Given the description of an element on the screen output the (x, y) to click on. 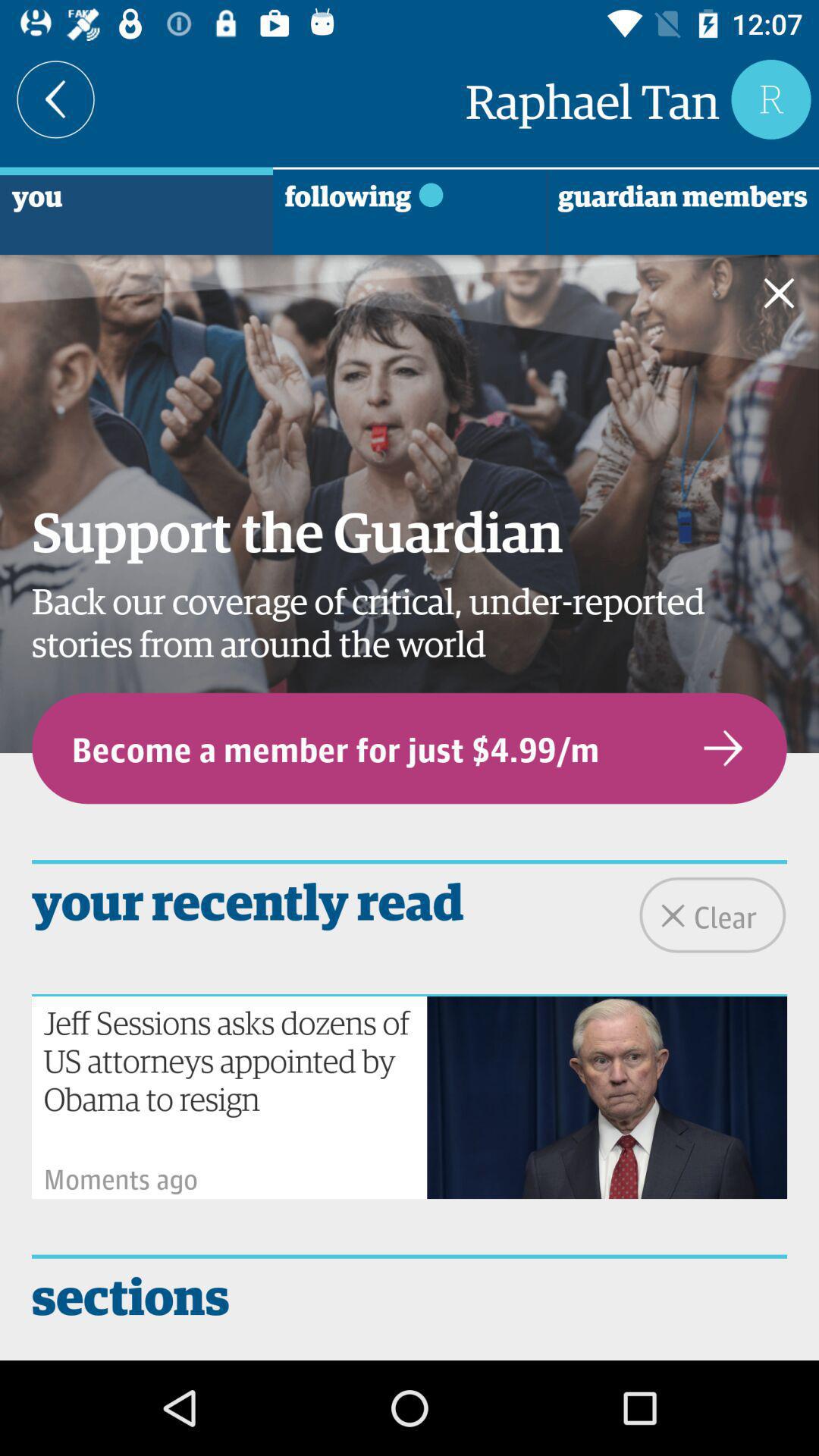
turn on icon to the left of raphael tan icon (55, 99)
